Given the description of an element on the screen output the (x, y) to click on. 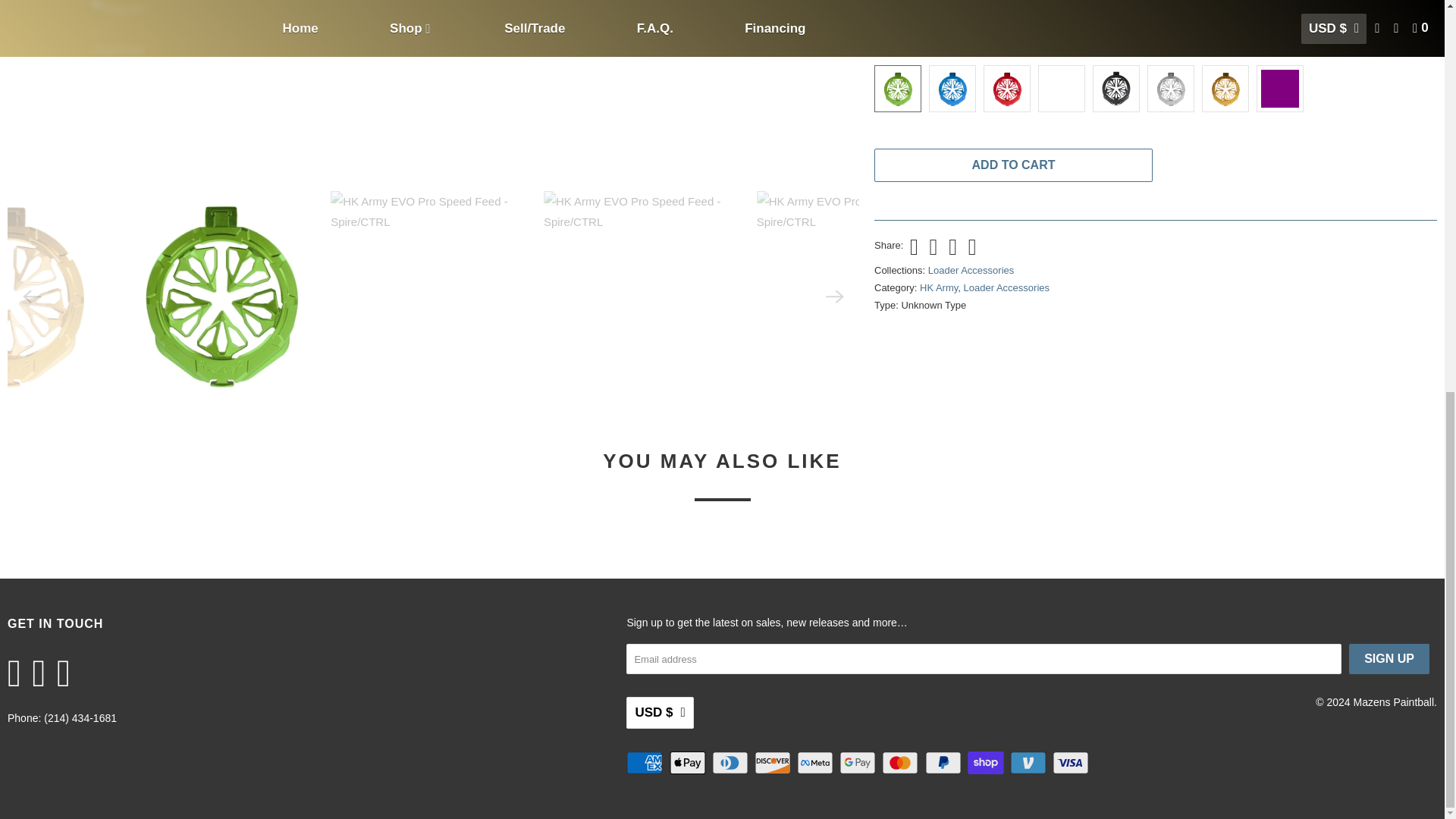
Visa (1072, 762)
Meta Pay (815, 762)
Apple Pay (689, 762)
American Express (645, 762)
Google Pay (859, 762)
Sign Up (1389, 658)
PayPal (943, 762)
Venmo (1029, 762)
Diners Club (731, 762)
Discover (773, 762)
Shop Pay (987, 762)
Mastercard (901, 762)
